Given the description of an element on the screen output the (x, y) to click on. 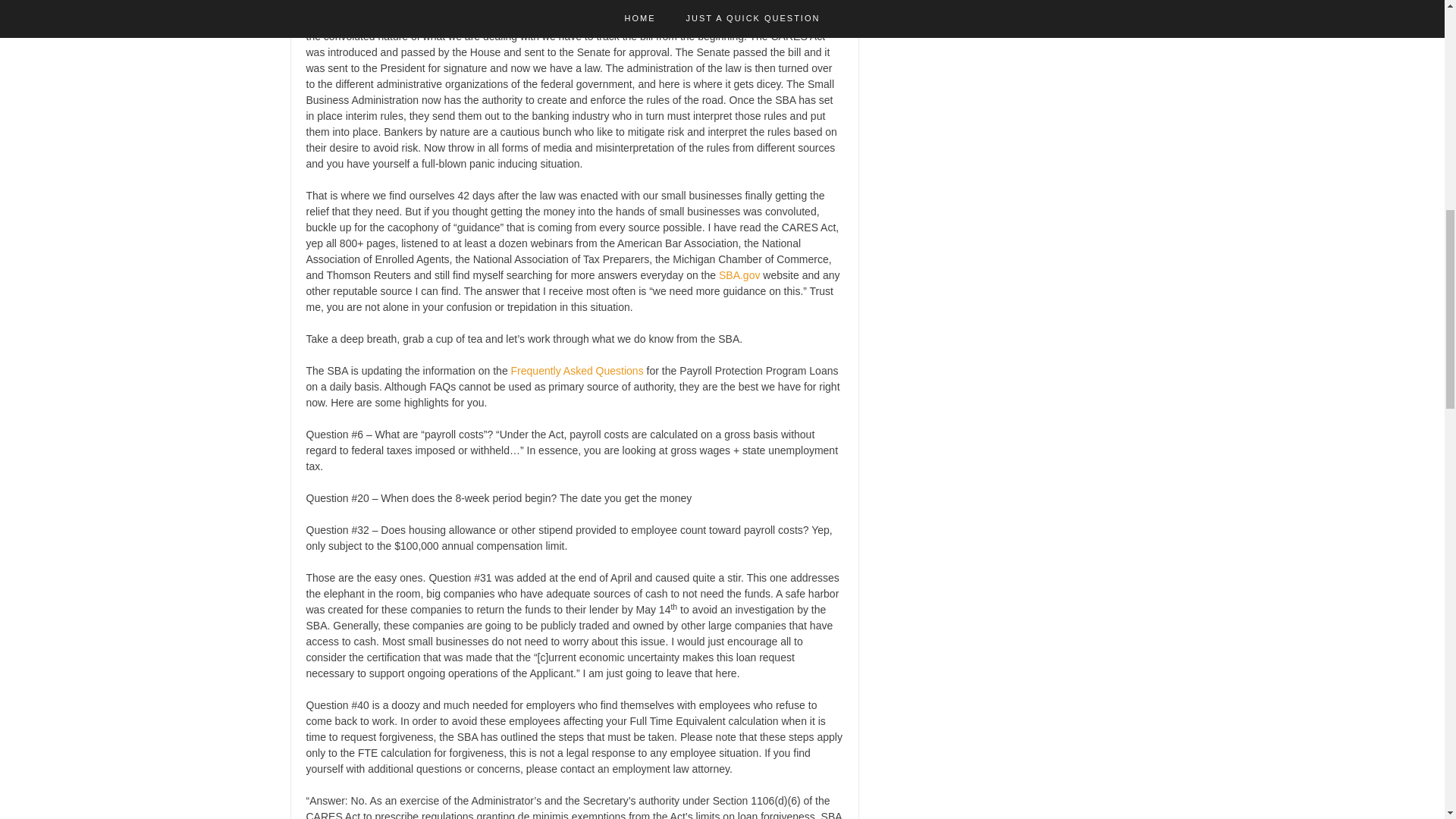
SBA.gov (739, 275)
Frequently Asked Questions (577, 370)
